Given the description of an element on the screen output the (x, y) to click on. 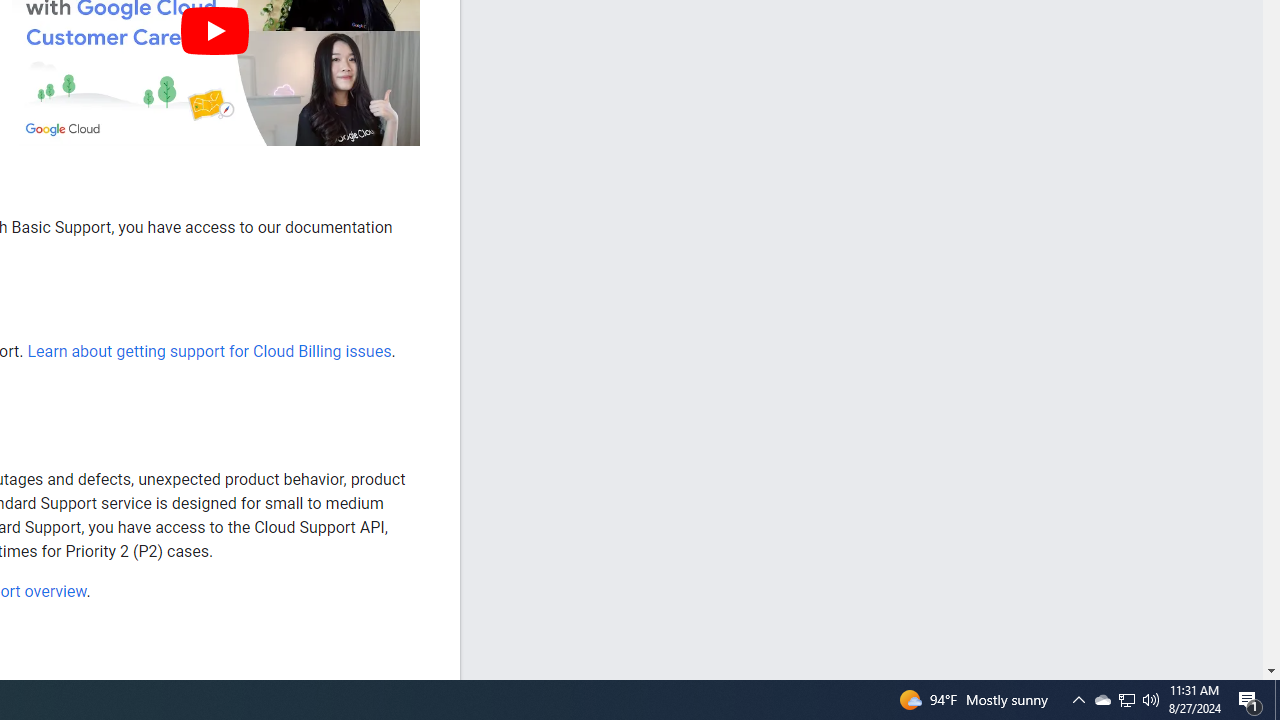
Learn about getting support for Cloud Billing issues (208, 351)
Play (214, 29)
